Given the description of an element on the screen output the (x, y) to click on. 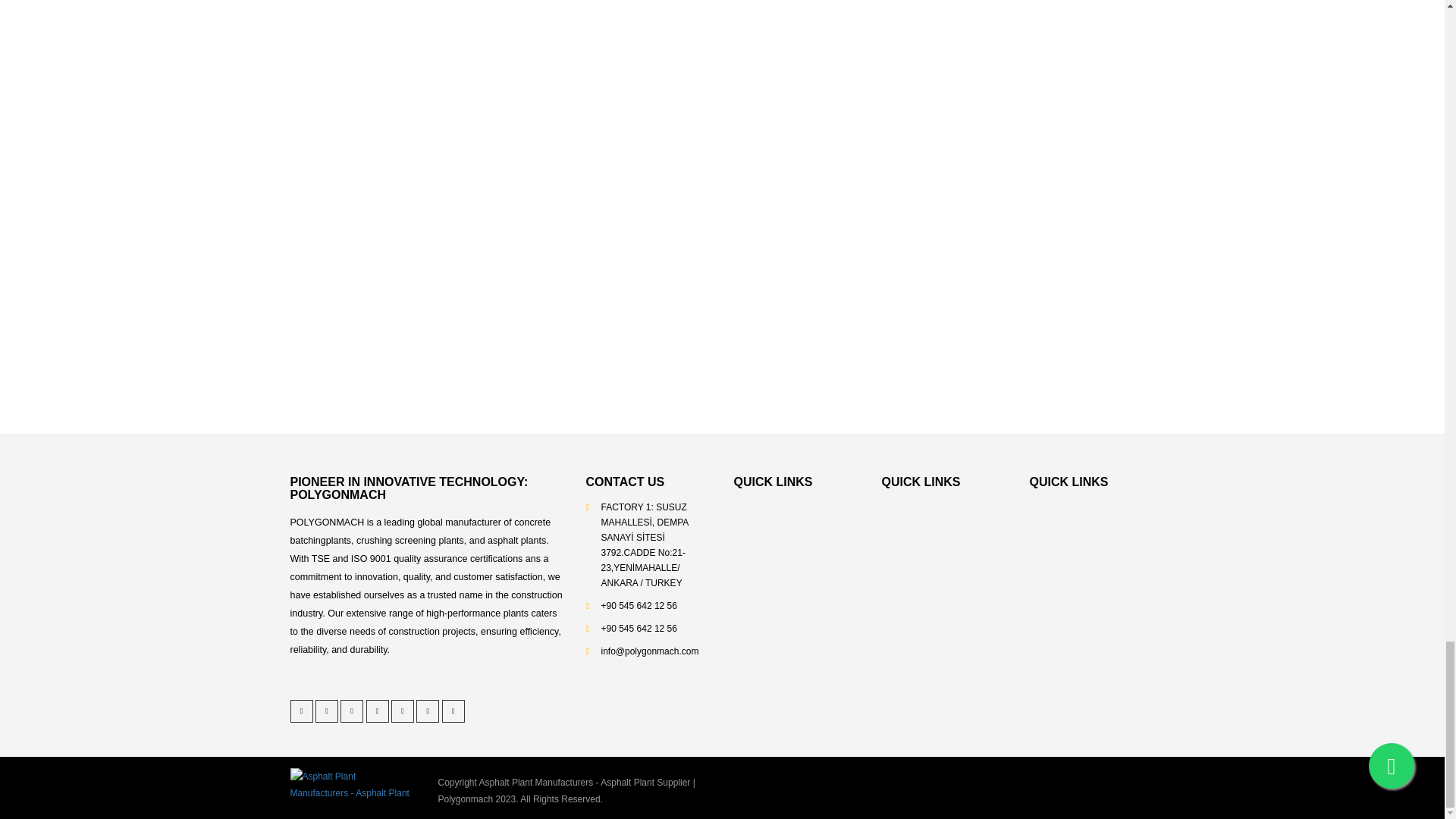
LinkedIn (351, 711)
Pinterest (326, 711)
Twitter (301, 711)
